Given the description of an element on the screen output the (x, y) to click on. 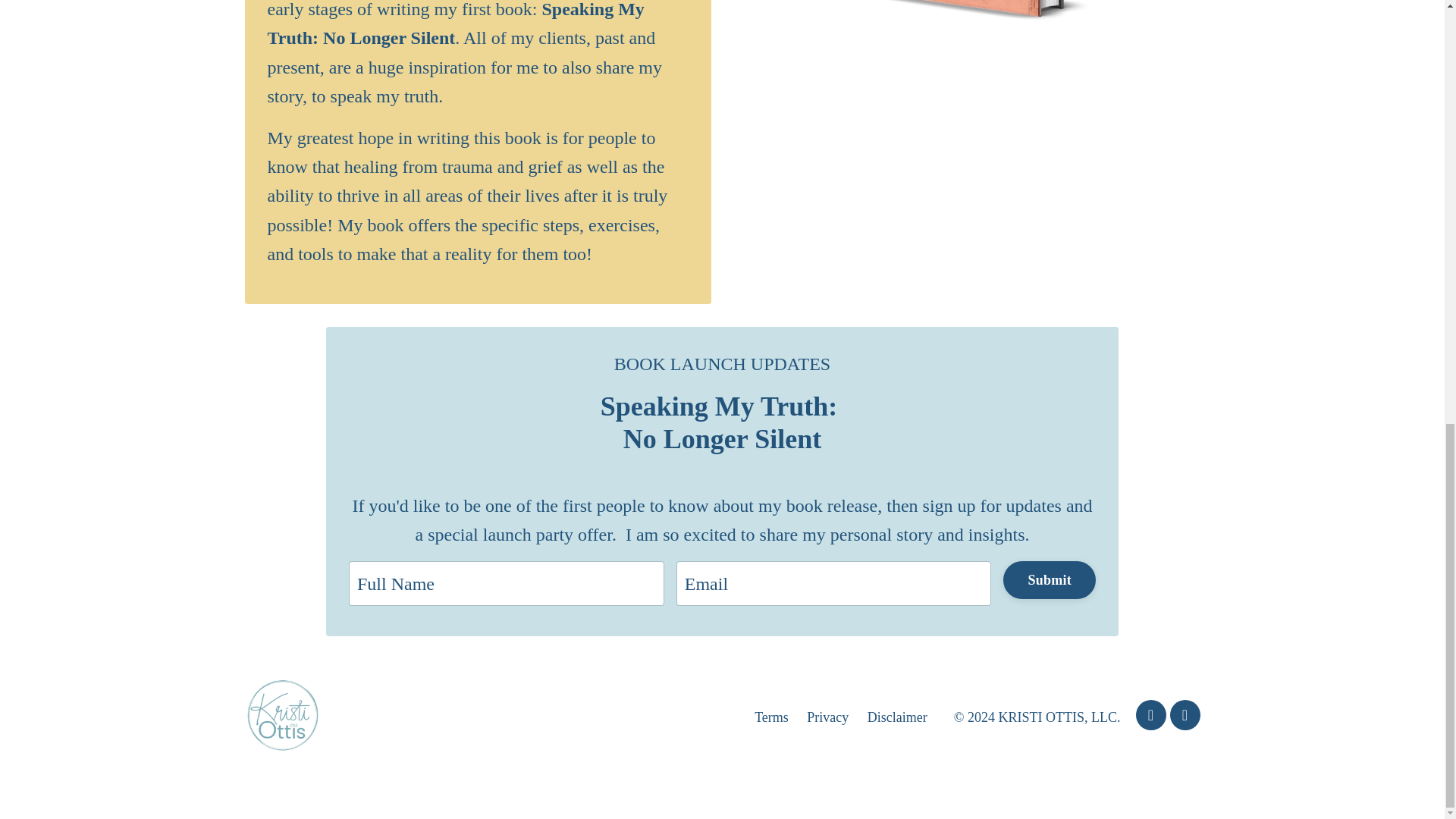
Submit (1049, 579)
Powered by Kajabi (1158, 778)
Privacy (827, 717)
Disclaimer (897, 717)
Terms (771, 717)
